Given the description of an element on the screen output the (x, y) to click on. 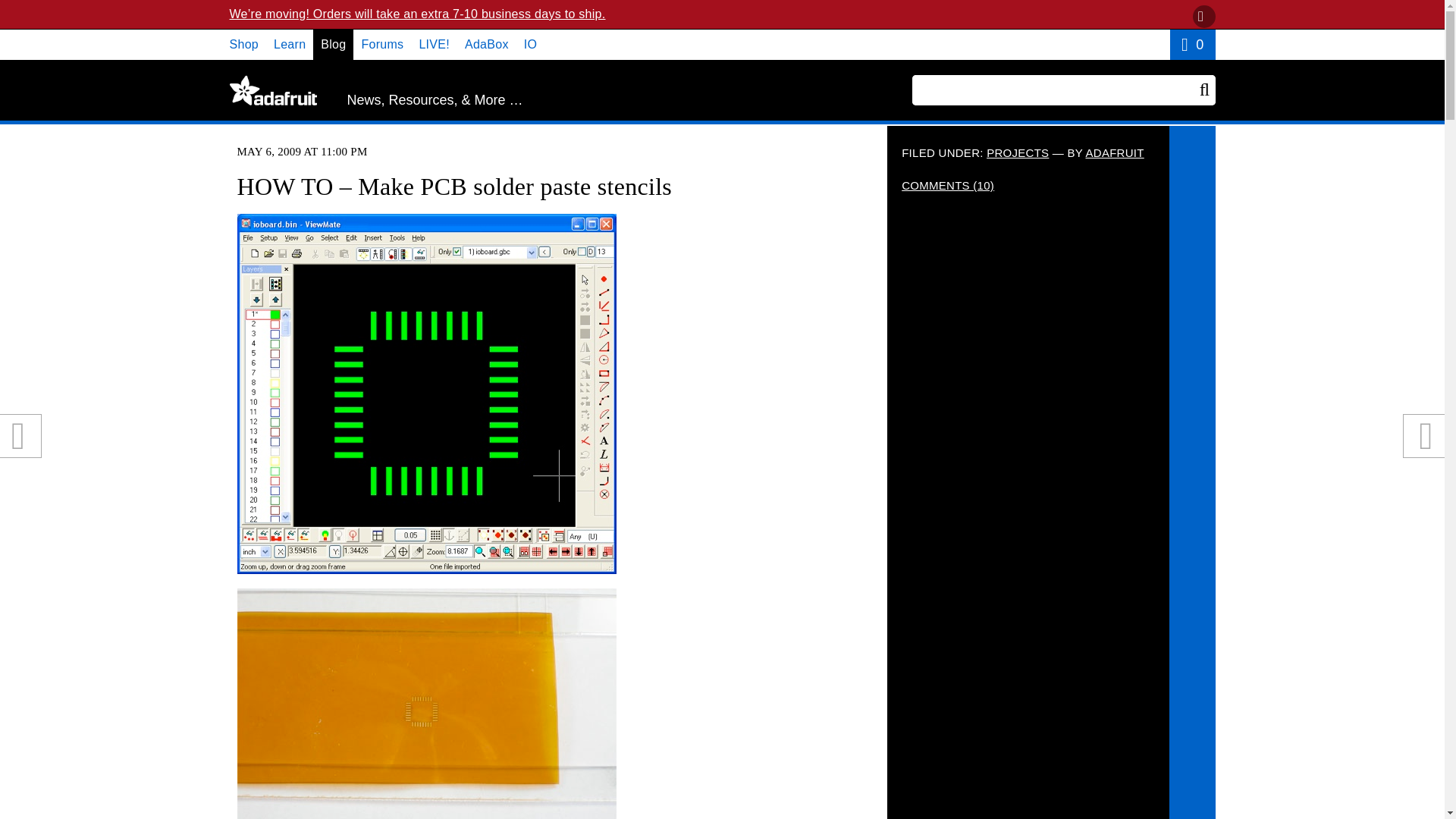
Adafruit (271, 90)
